Given the description of an element on the screen output the (x, y) to click on. 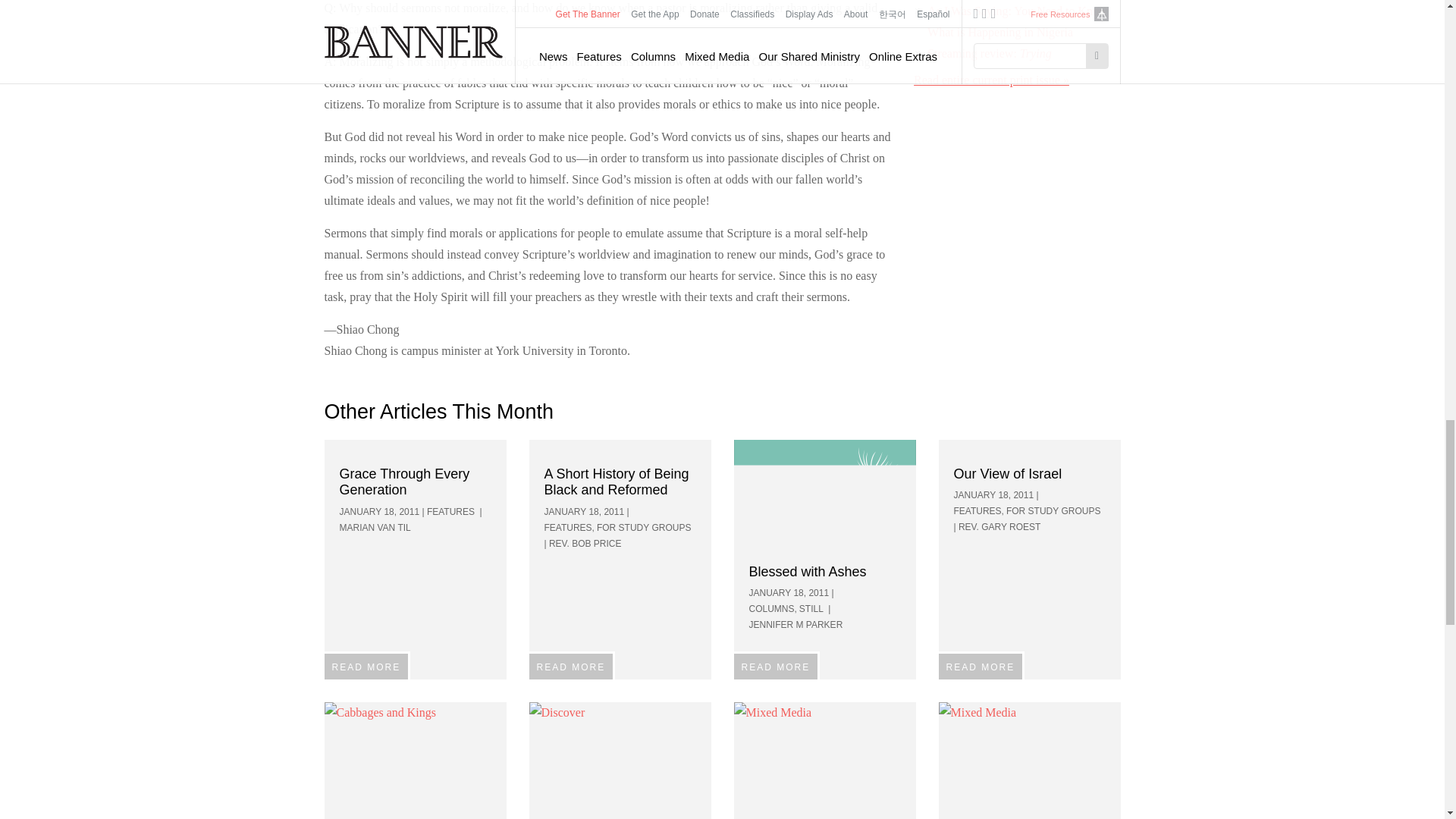
Discover (620, 757)
Cabbages and Kings (415, 757)
Mixed Media (1030, 757)
Mixed Media (824, 757)
Streaming review: Trying (989, 52)
